Given the description of an element on the screen output the (x, y) to click on. 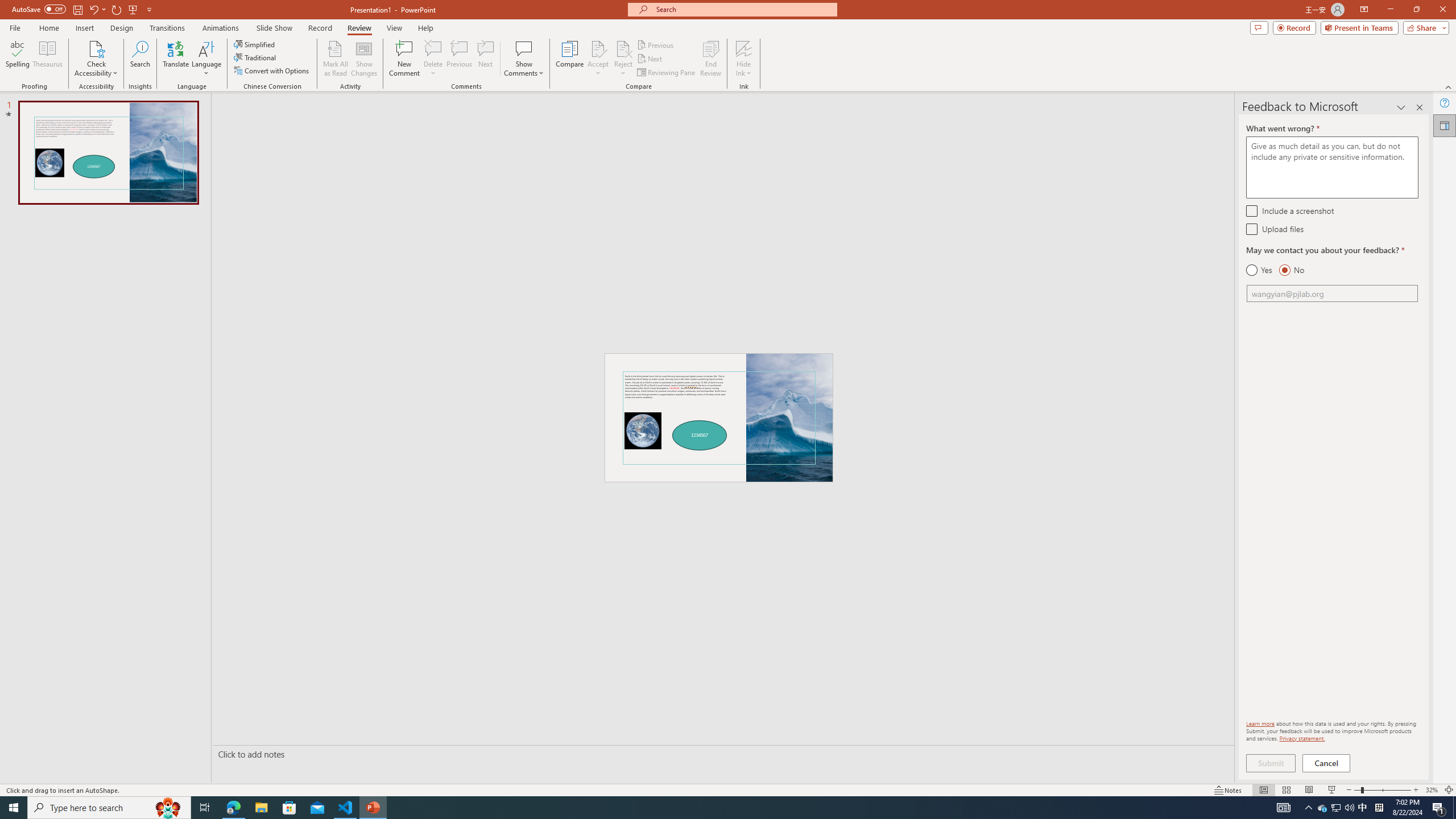
Yes (1259, 269)
Reject (622, 58)
Cancel (1327, 763)
Convert with Options... (272, 69)
Traditional (255, 56)
Accept (598, 58)
Submit (1270, 763)
Upload files (1251, 228)
